Given the description of an element on the screen output the (x, y) to click on. 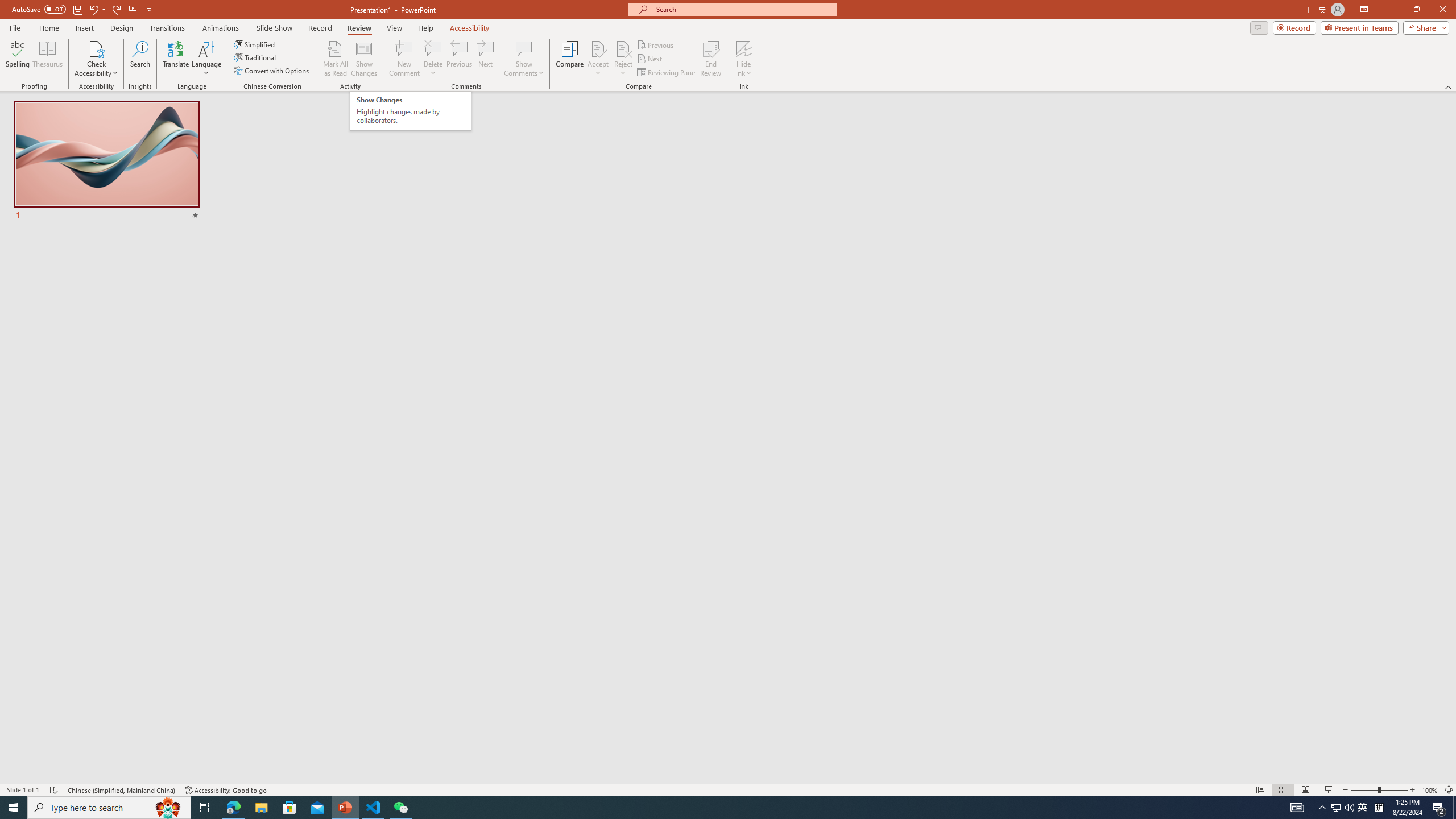
Translate (175, 58)
Accept Change (598, 48)
